Given the description of an element on the screen output the (x, y) to click on. 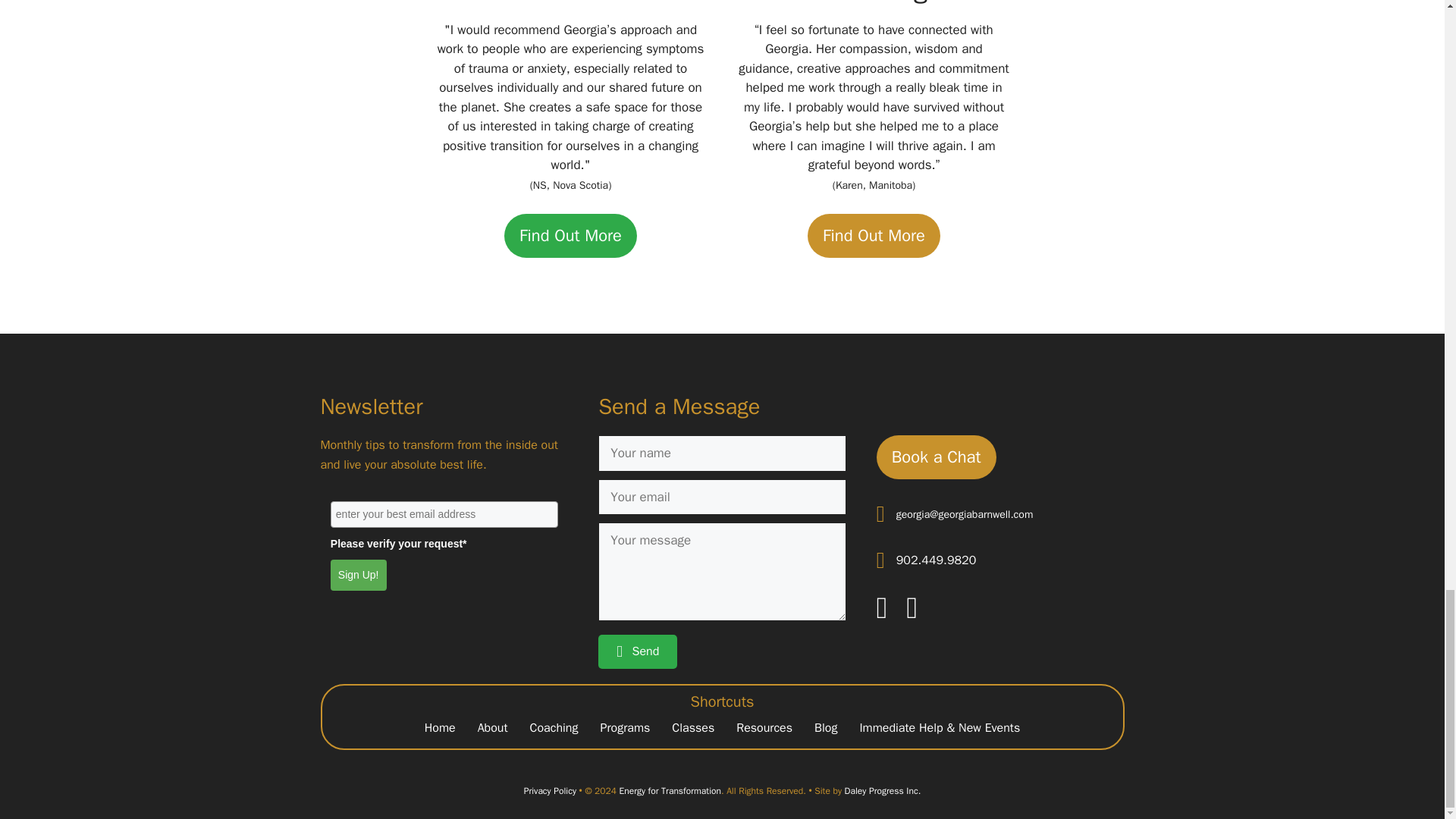
Energy for Transformation (669, 790)
Find Out More (874, 235)
Home (439, 727)
Send (637, 651)
Resources (764, 727)
About (492, 727)
Find Out More (570, 235)
Coaching (554, 727)
Blog (825, 727)
Classes (693, 727)
